Given the description of an element on the screen output the (x, y) to click on. 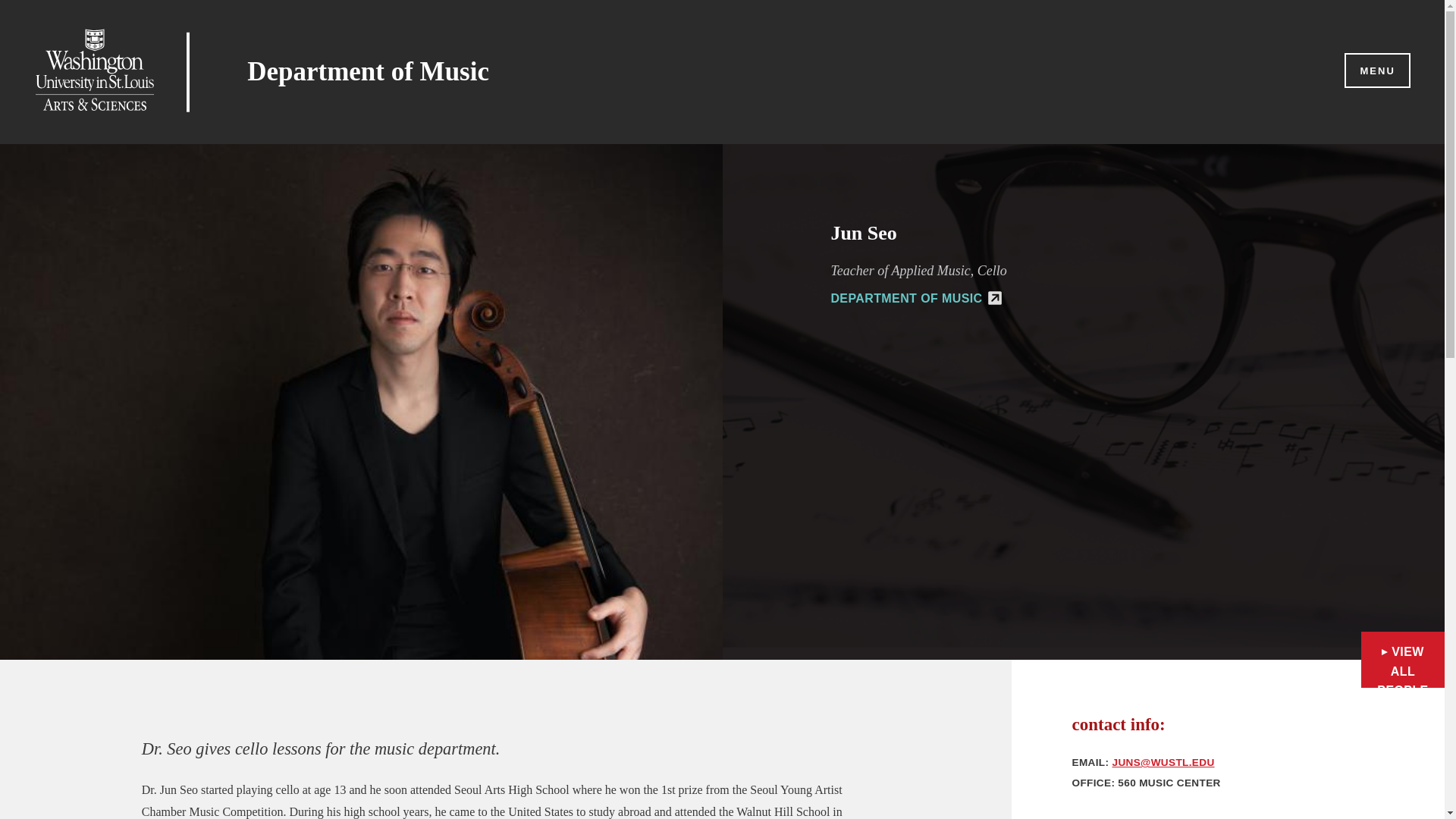
MENU (1376, 71)
DEPARTMENT OF MUSIC (915, 297)
Department of Music (368, 71)
